Given the description of an element on the screen output the (x, y) to click on. 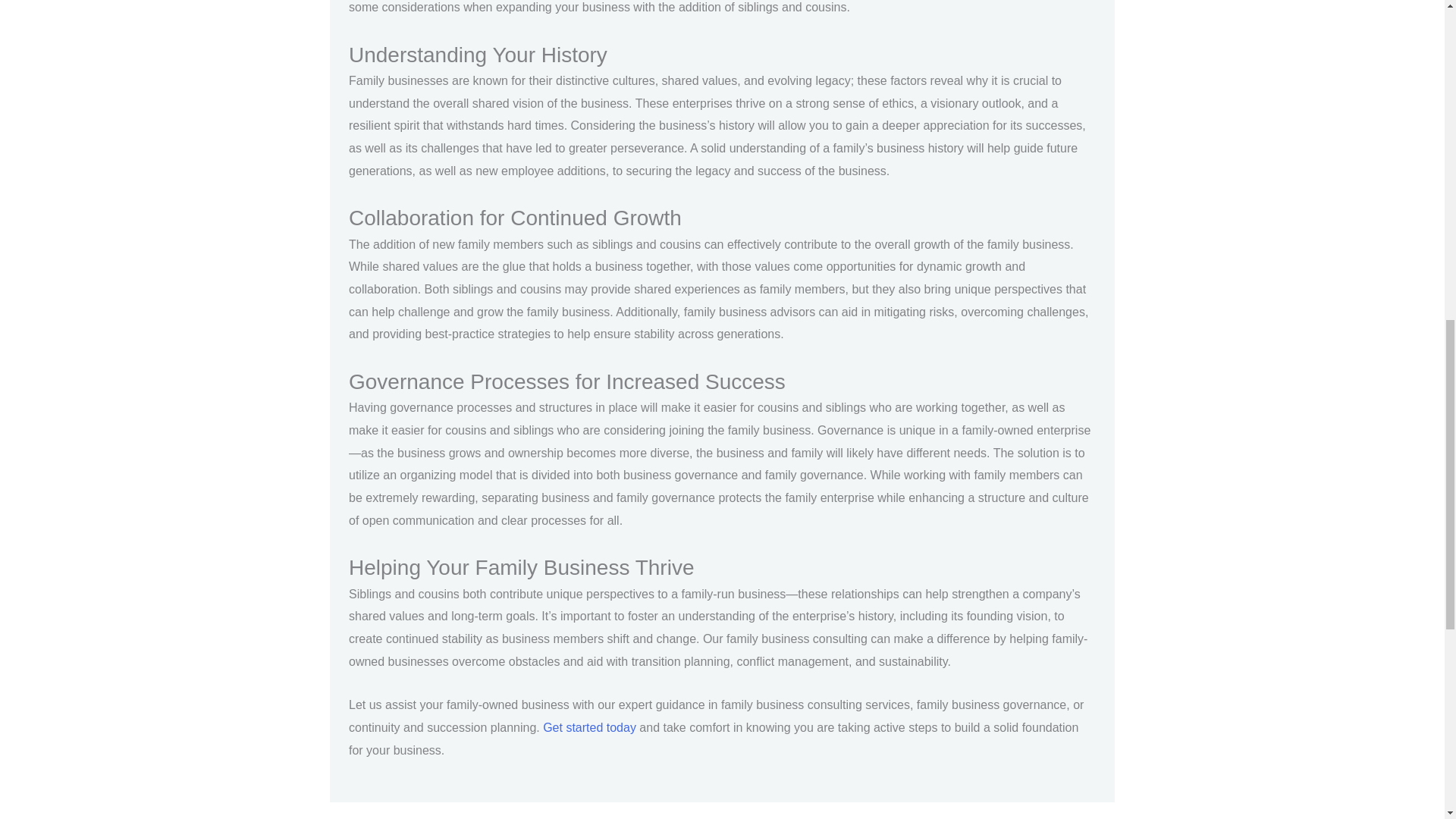
Get started today (589, 727)
